Given the description of an element on the screen output the (x, y) to click on. 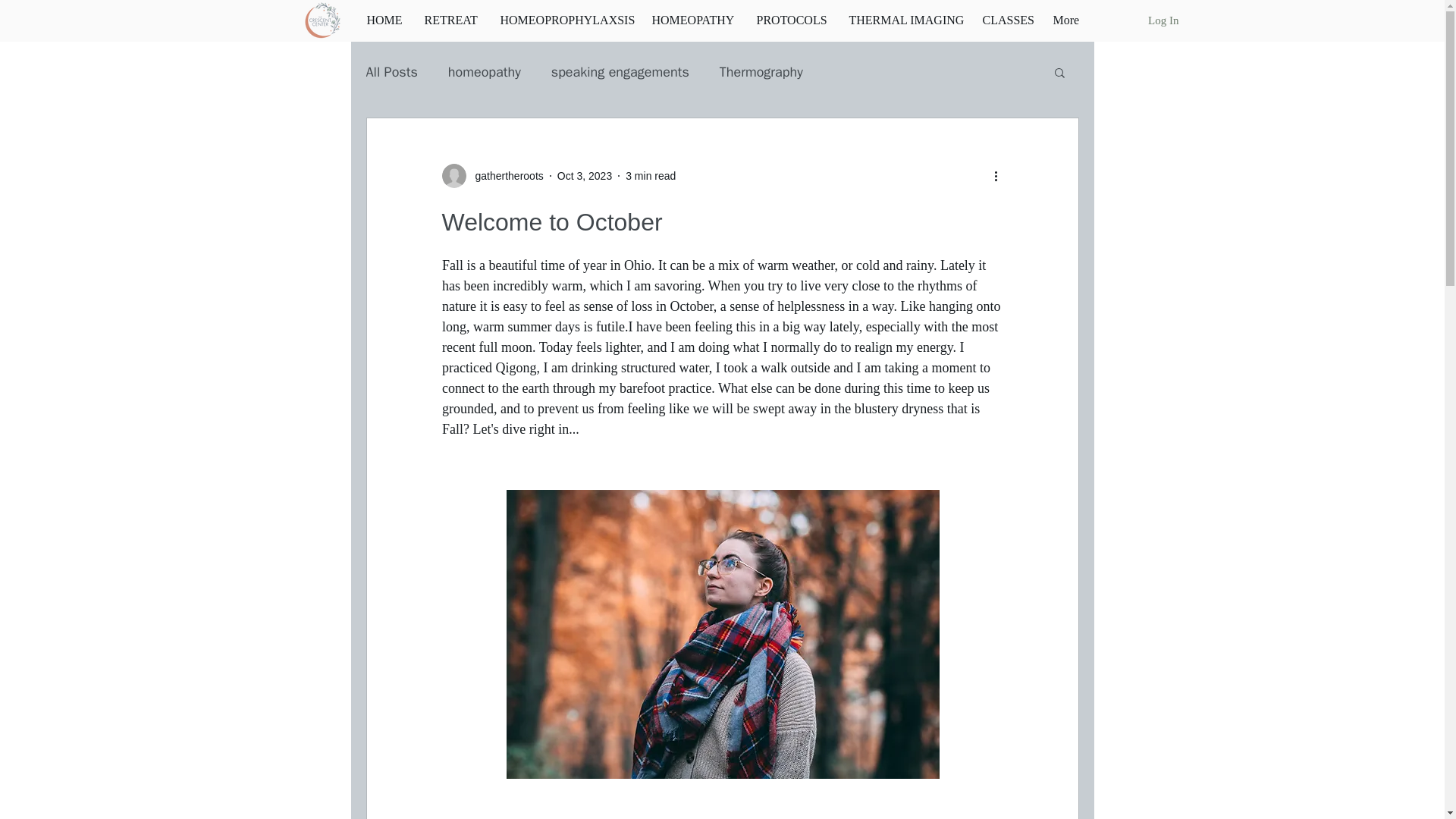
speaking engagements (619, 72)
HOMEOPROPHYLAXSIS (563, 20)
Oct 3, 2023 (584, 175)
THERMAL IMAGING (904, 20)
All Posts (390, 72)
Log In (1163, 19)
gathertheroots (504, 176)
HOMEOPATHY (692, 20)
RETREAT (449, 20)
homeopathy (484, 72)
CLASSES (1006, 20)
gathertheroots (492, 175)
HOME (383, 20)
Thermography (761, 72)
3 min read (650, 175)
